Given the description of an element on the screen output the (x, y) to click on. 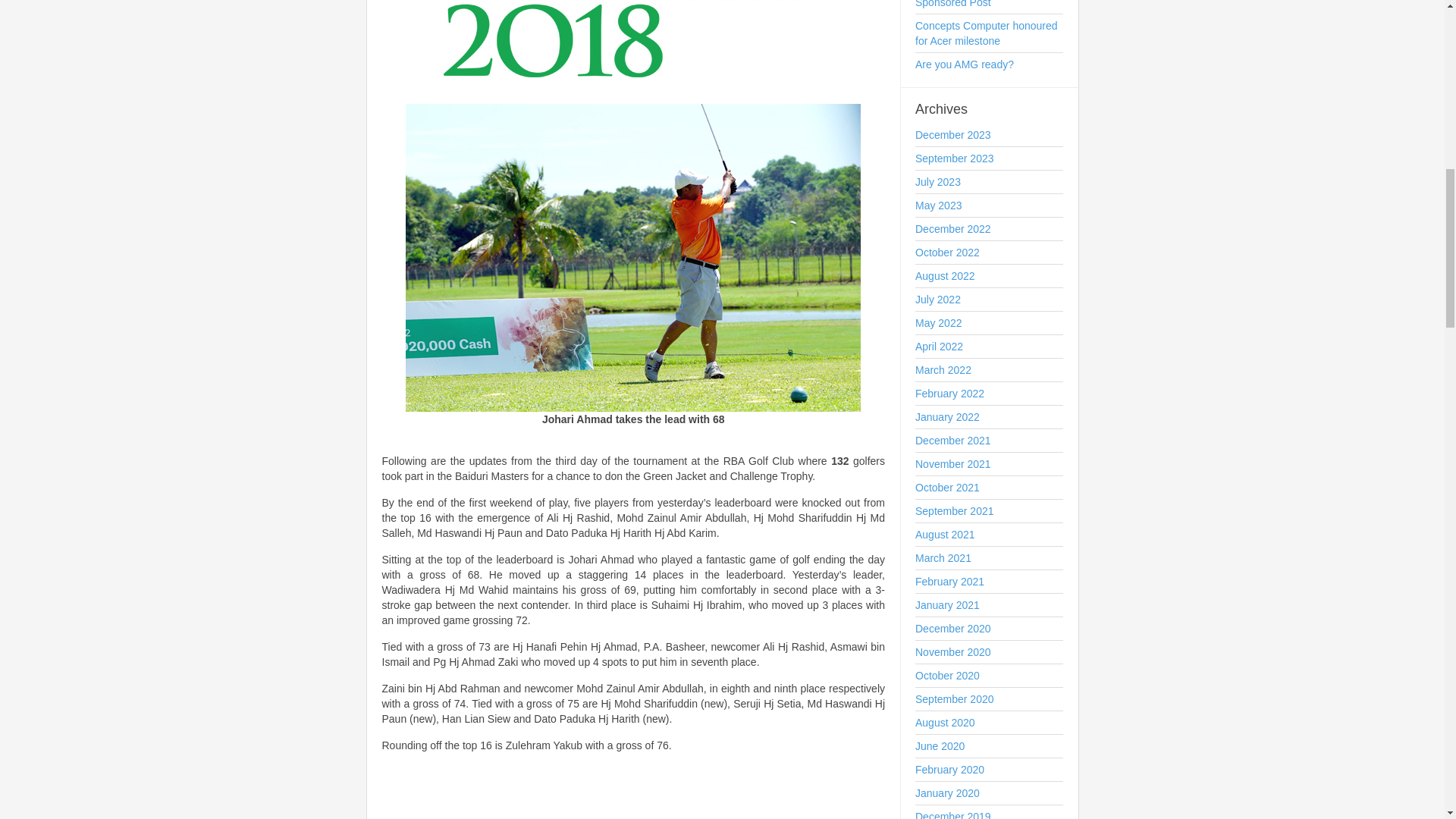
July 2023 (988, 181)
Concepts Computer honoured for Acer milestone (988, 33)
September 2023 (988, 158)
Sponsored Post (988, 4)
Are you AMG ready? (988, 64)
December 2023 (988, 134)
